Given the description of an element on the screen output the (x, y) to click on. 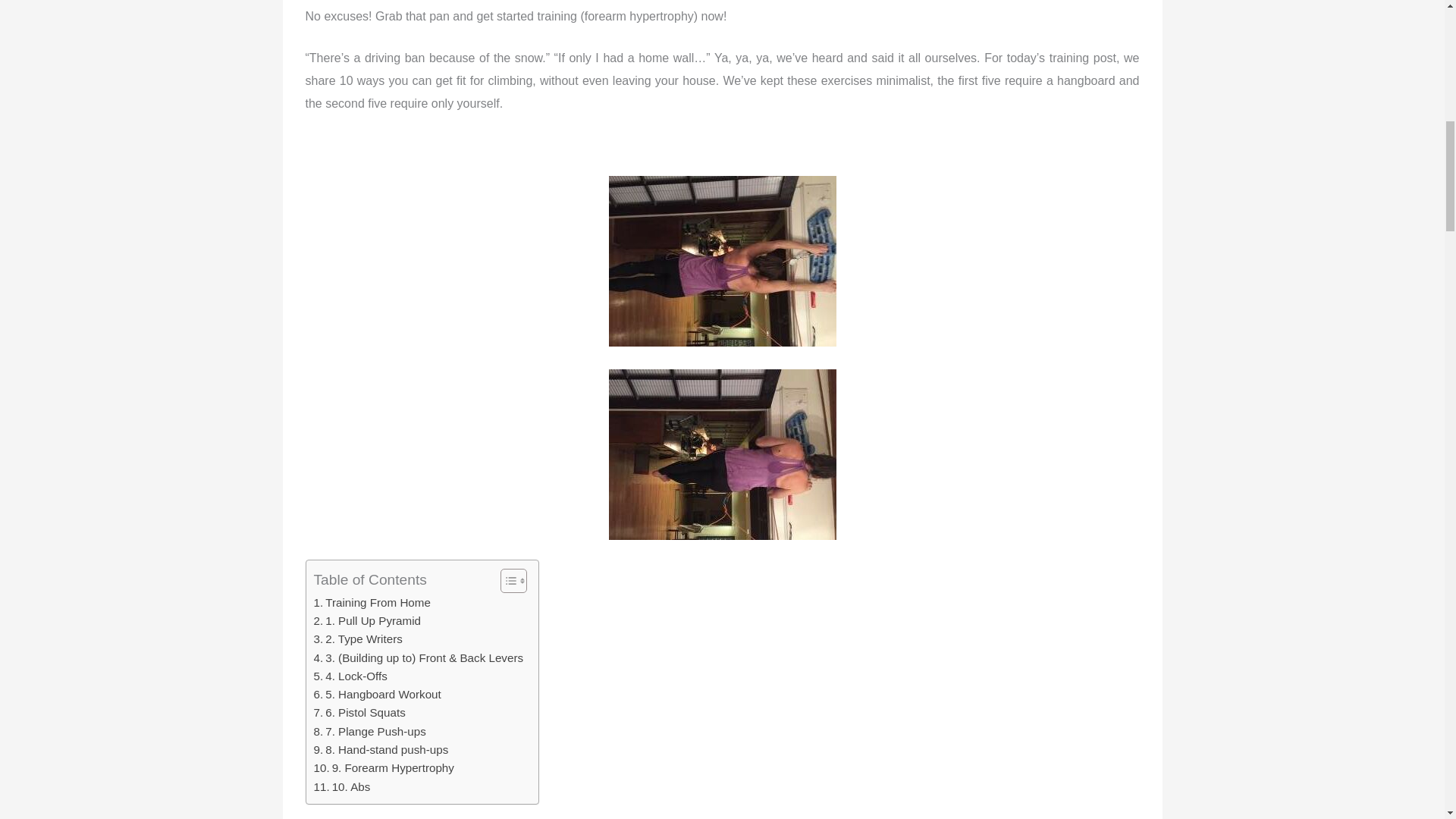
4. Lock-Offs (350, 676)
1. Pull Up Pyramid (367, 620)
5. Hangboard Workout (377, 694)
5. Hangboard Workout (377, 694)
2. Type Writers (358, 638)
6. Pistol Squats (360, 712)
Training From Home (372, 602)
10. Abs (342, 787)
8. Hand-stand push-ups (381, 750)
4. Lock-Offs (350, 676)
9. Forearm Hypertrophy (384, 768)
Training From Home (372, 602)
10. Abs (342, 787)
6. Pistol Squats (360, 712)
